Given the description of an element on the screen output the (x, y) to click on. 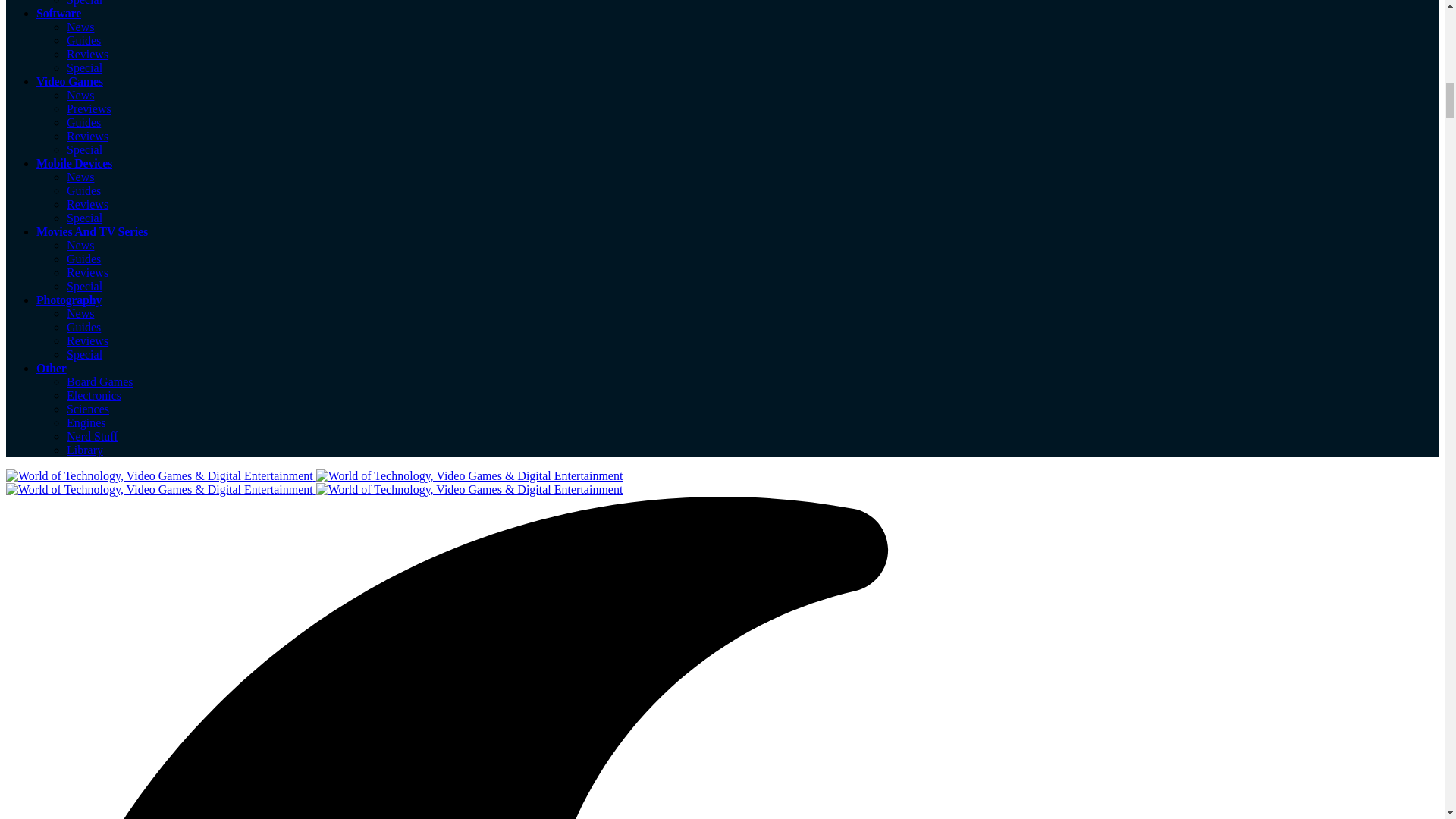
Guides (83, 190)
Guides (83, 40)
Reviews (86, 53)
News (80, 245)
News (80, 94)
Mobile Devices (74, 163)
Special (83, 149)
Photography (68, 299)
News (80, 313)
Guides (83, 122)
Special (83, 217)
Movies And TV Series (92, 231)
Reviews (86, 272)
Special (83, 2)
Guides (83, 258)
